Given the description of an element on the screen output the (x, y) to click on. 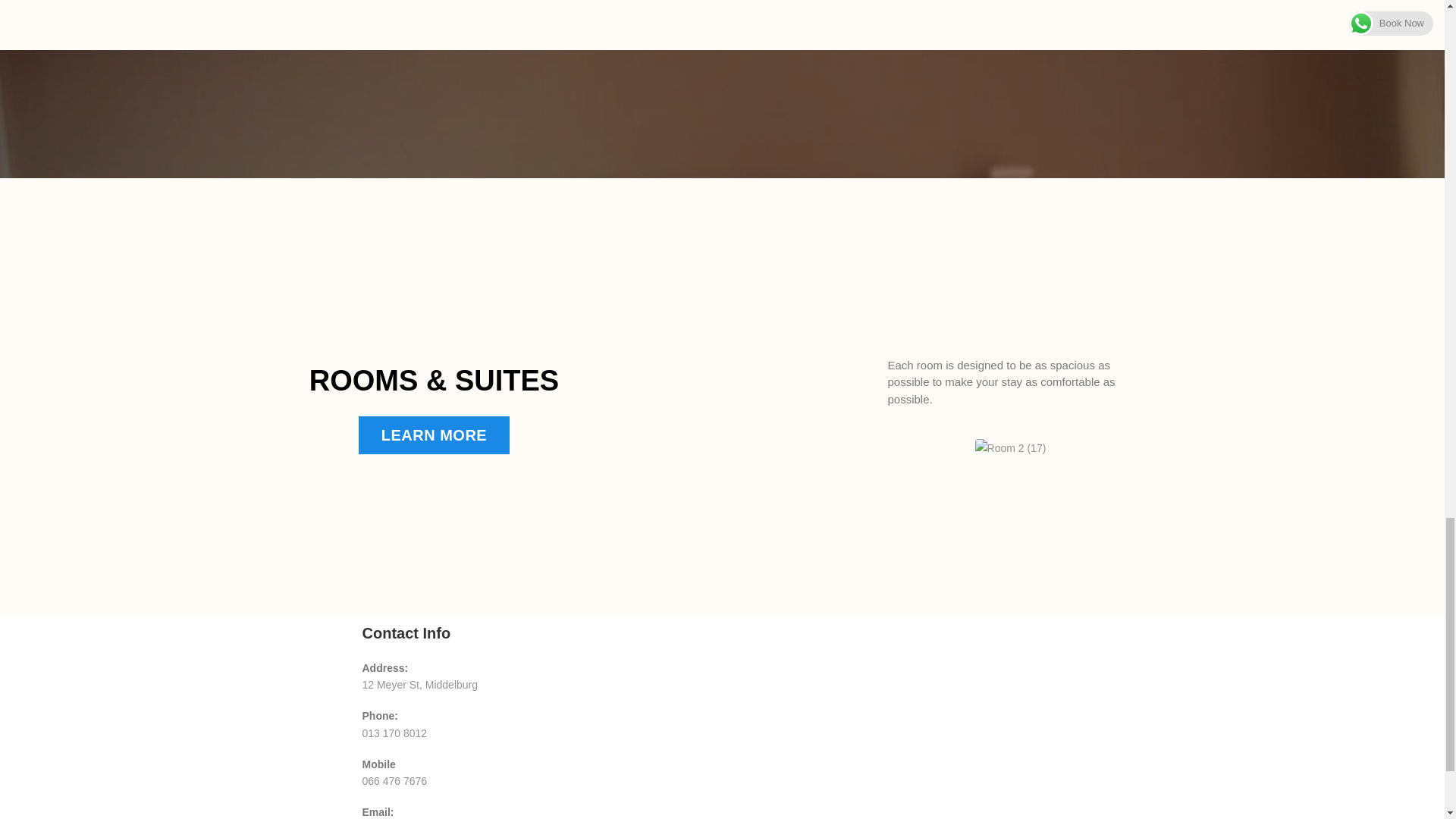
LEARN MORE (433, 435)
